Given the description of an element on the screen output the (x, y) to click on. 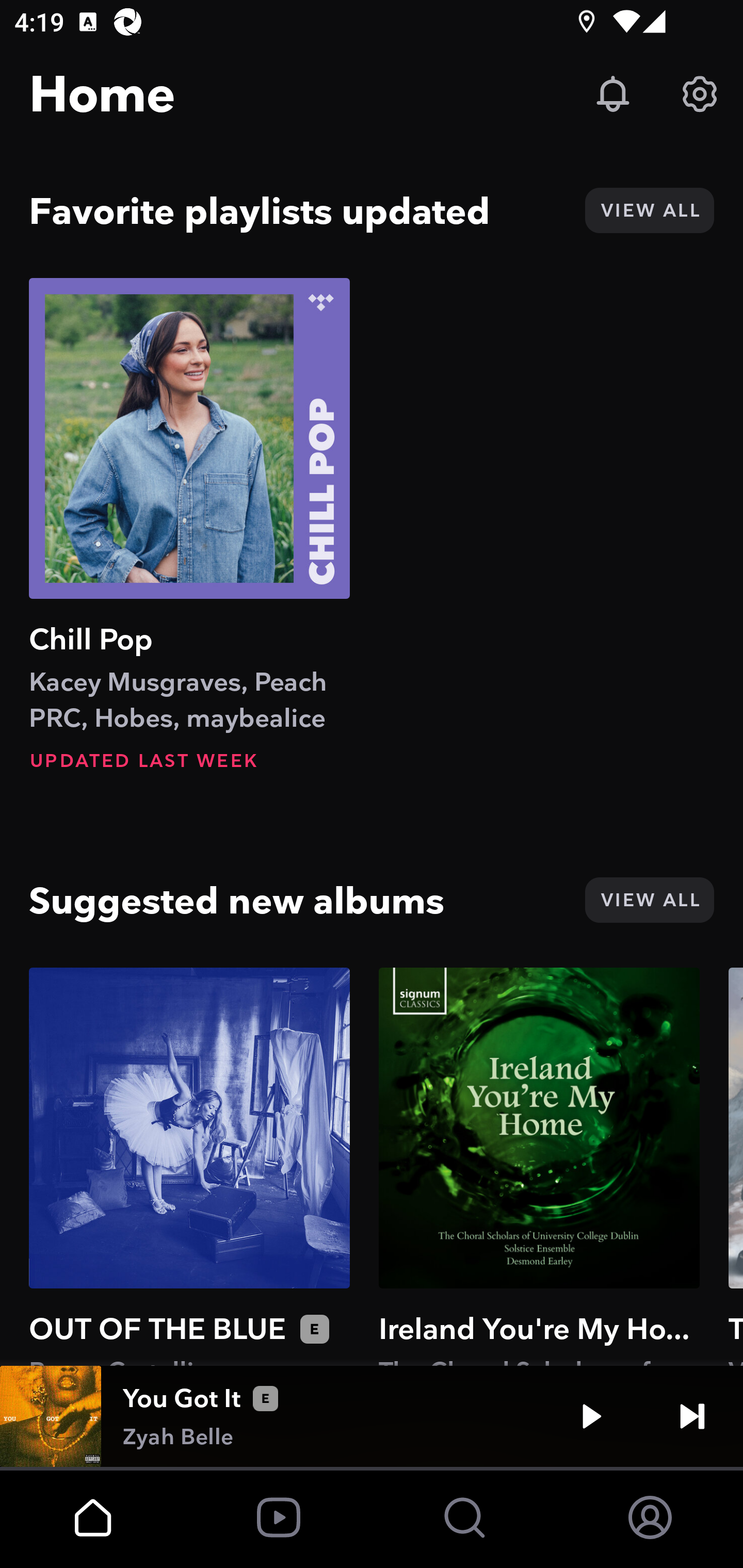
Updates (612, 93)
Settings (699, 93)
VIEW ALL (649, 210)
VIEW ALL (649, 899)
OUT OF THE BLUE Brynn Cartelli (188, 1166)
You Got It    Zyah Belle Play (371, 1416)
Play (590, 1416)
